Given the description of an element on the screen output the (x, y) to click on. 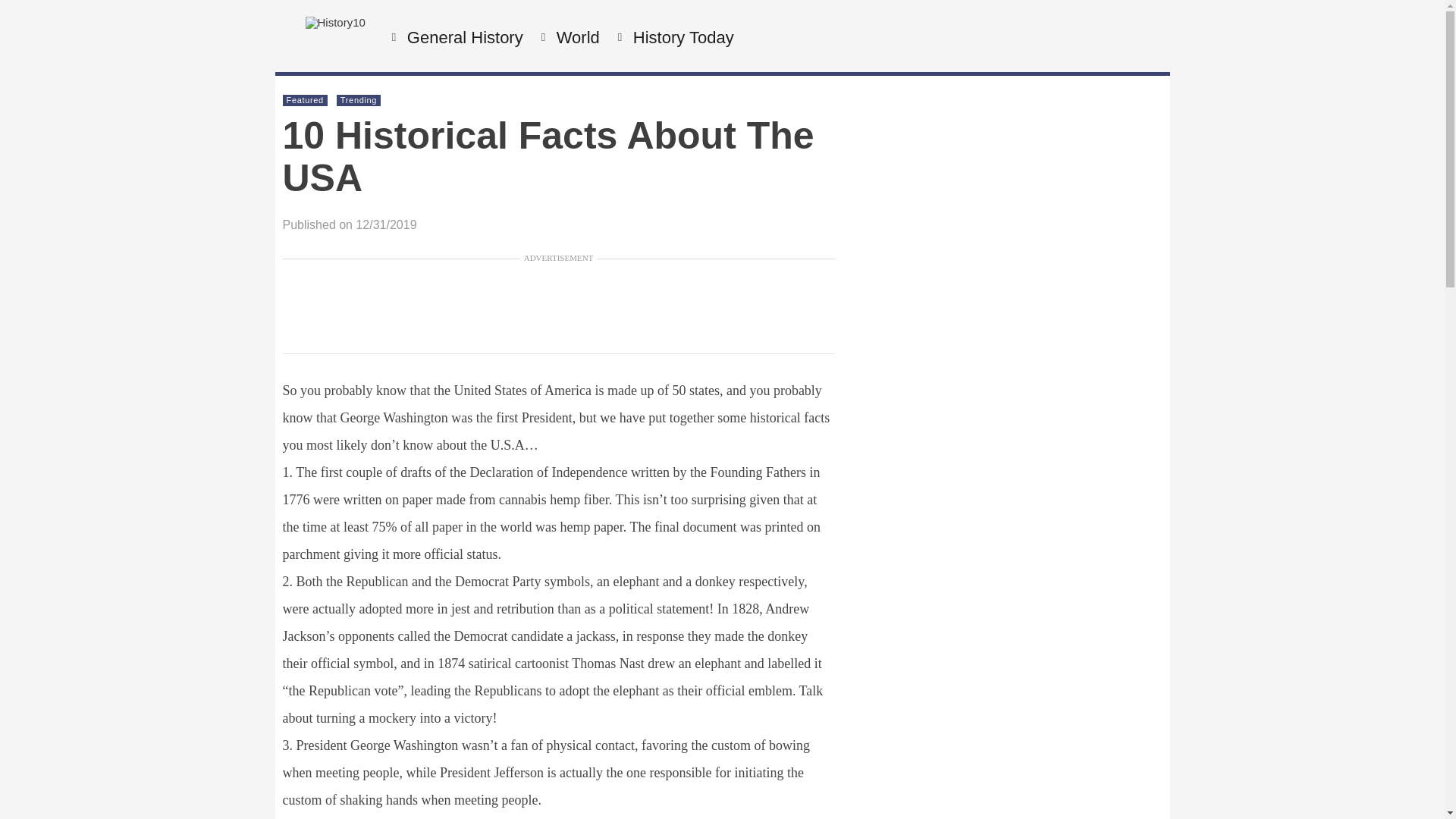
General History (462, 37)
History Today (680, 37)
World (576, 37)
Featured (304, 99)
Trending (358, 99)
History10 (334, 21)
